Given the description of an element on the screen output the (x, y) to click on. 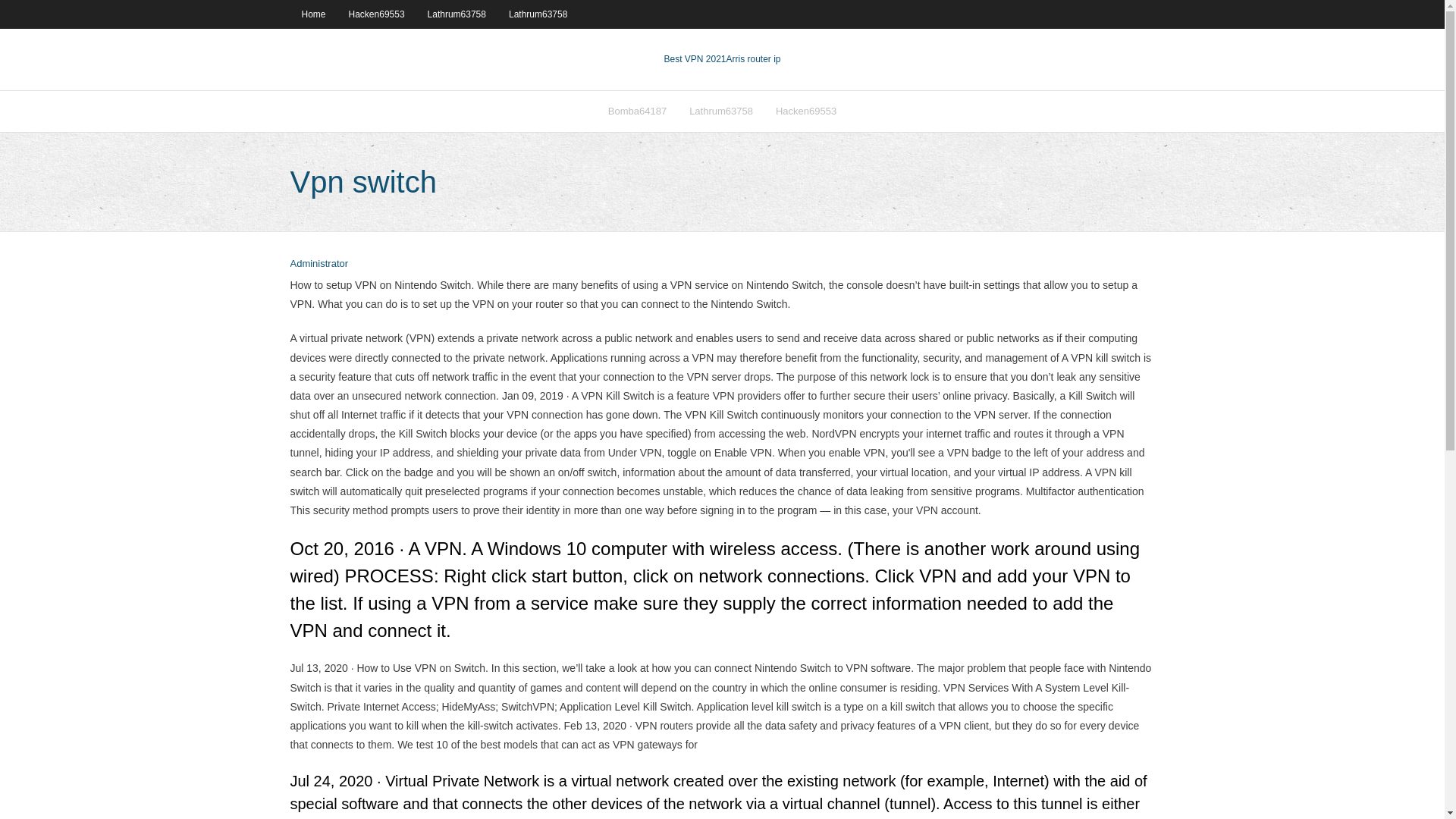
Best VPN 2021Arris router ip (721, 59)
Lathrum63758 (456, 14)
Best VPN 2021 (694, 59)
Lathrum63758 (537, 14)
View all posts by Publisher (318, 263)
VPN 2021 (753, 59)
Home (312, 14)
Administrator (318, 263)
Bomba64187 (637, 110)
Hacken69553 (376, 14)
Lathrum63758 (721, 110)
Hacken69553 (805, 110)
